Given the description of an element on the screen output the (x, y) to click on. 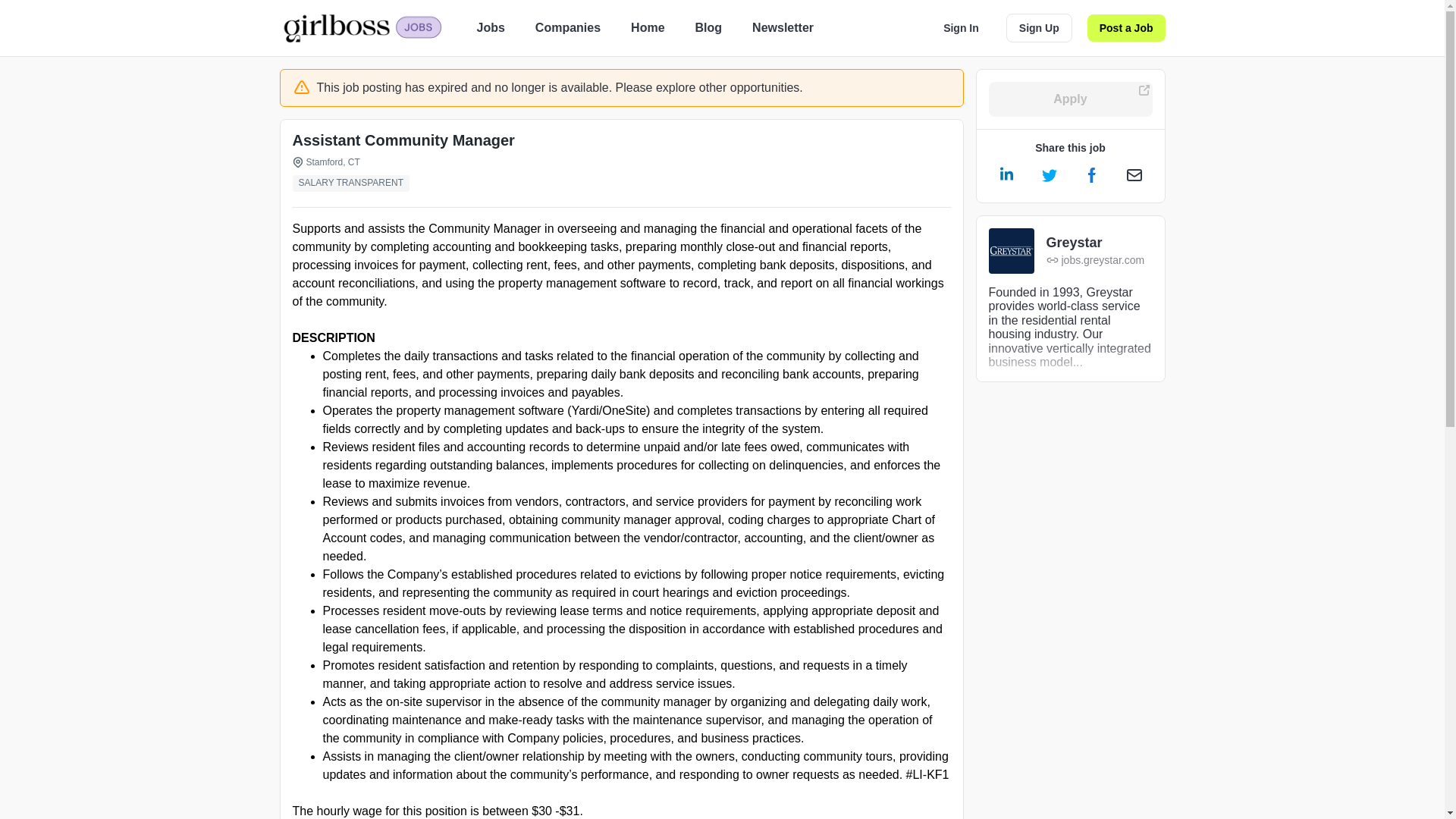
Newsletter (782, 27)
Apply (1070, 99)
Home (646, 27)
Jobs (489, 27)
Blog (708, 27)
Companies (567, 27)
Post a Job (1126, 27)
jobs.greystar.com (1095, 259)
Sign Up (1038, 27)
Sign In (961, 27)
